Given the description of an element on the screen output the (x, y) to click on. 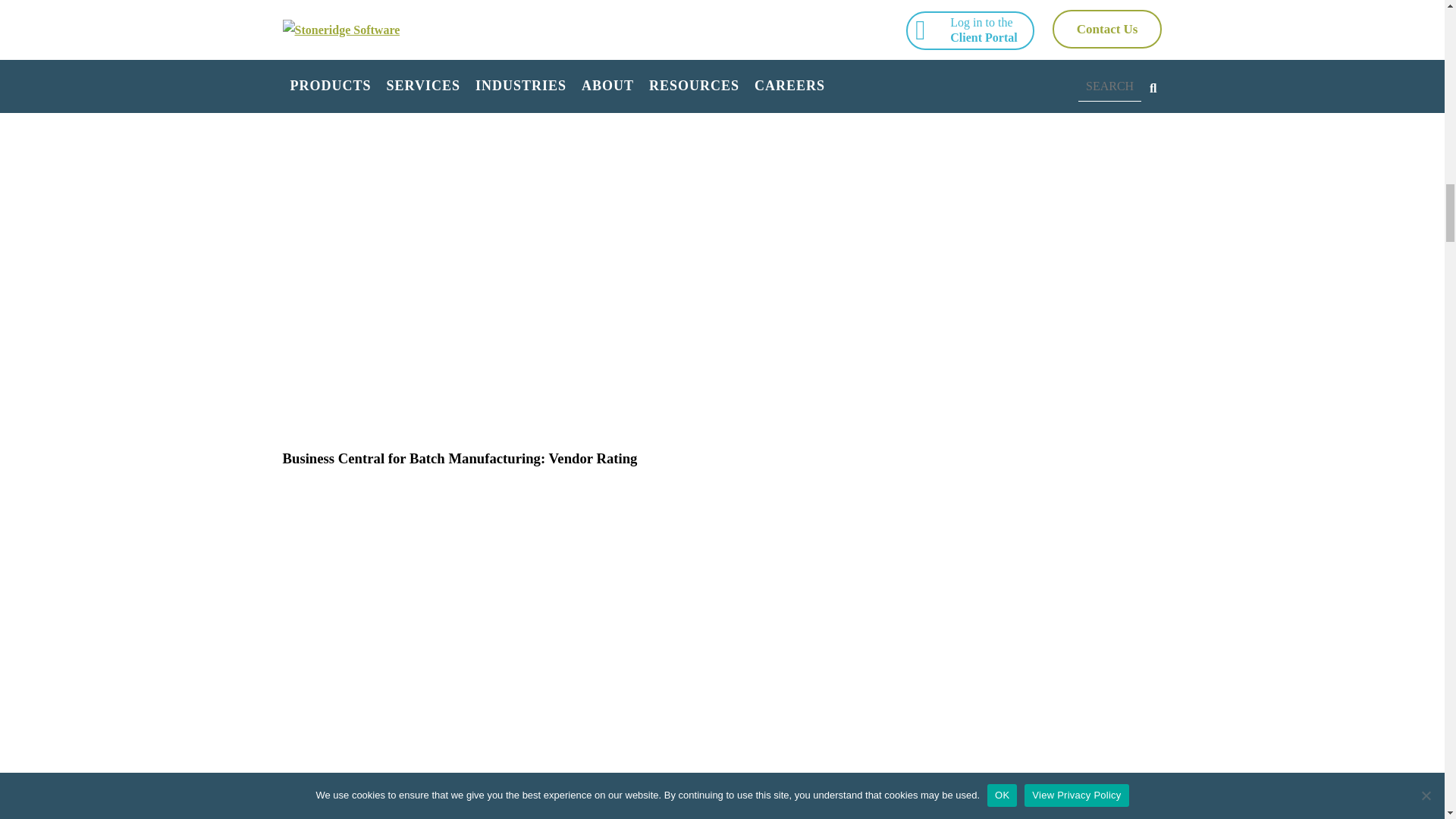
YouTube video player (494, 30)
